Given the description of an element on the screen output the (x, y) to click on. 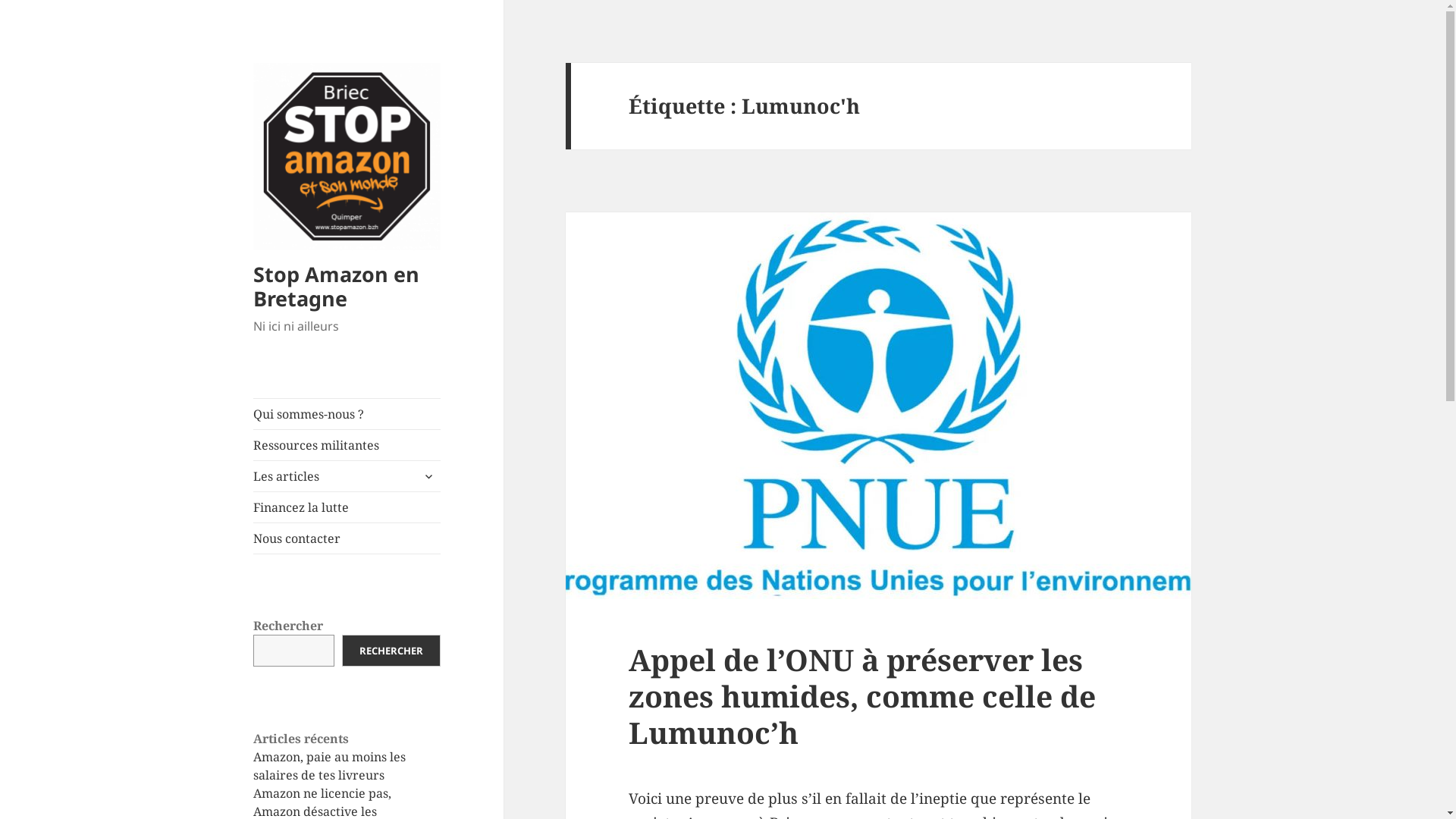
RECHERCHER Element type: text (391, 650)
Qui sommes-nous ? Element type: text (347, 413)
Stop Amazon en Bretagne Element type: text (336, 286)
Amazon, paie au moins les salaires de tes livreurs Element type: text (329, 765)
ouvrir le sous-menu Element type: text (428, 476)
Nous contacter Element type: text (347, 538)
Les articles Element type: text (347, 476)
Financez la lutte Element type: text (347, 507)
Ressources militantes Element type: text (347, 444)
